Given the description of an element on the screen output the (x, y) to click on. 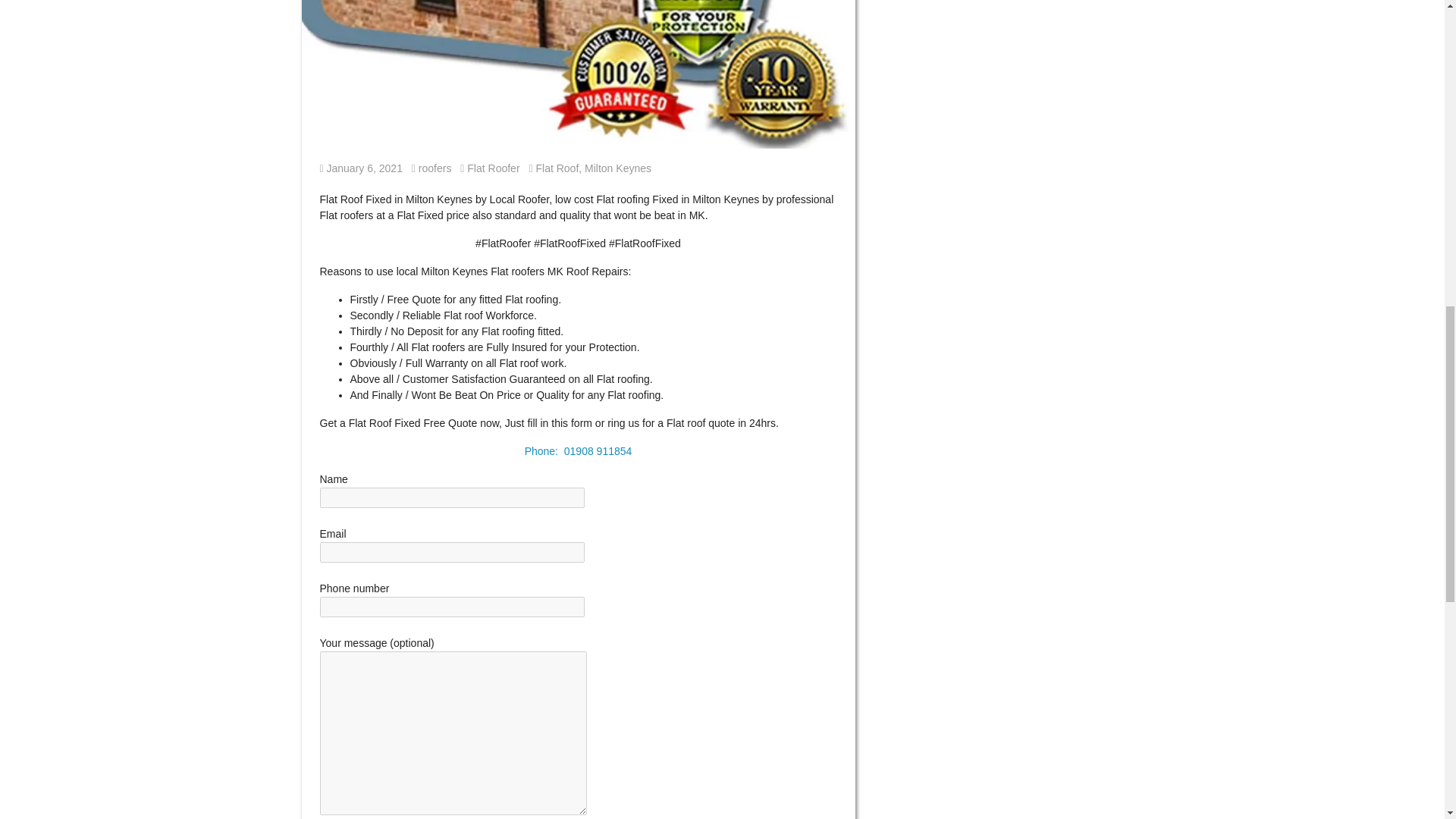
Phone:  01908 911854 (577, 451)
Flat Roofer (493, 168)
Flat Roof (361, 168)
Milton Keynes (556, 168)
